Given the description of an element on the screen output the (x, y) to click on. 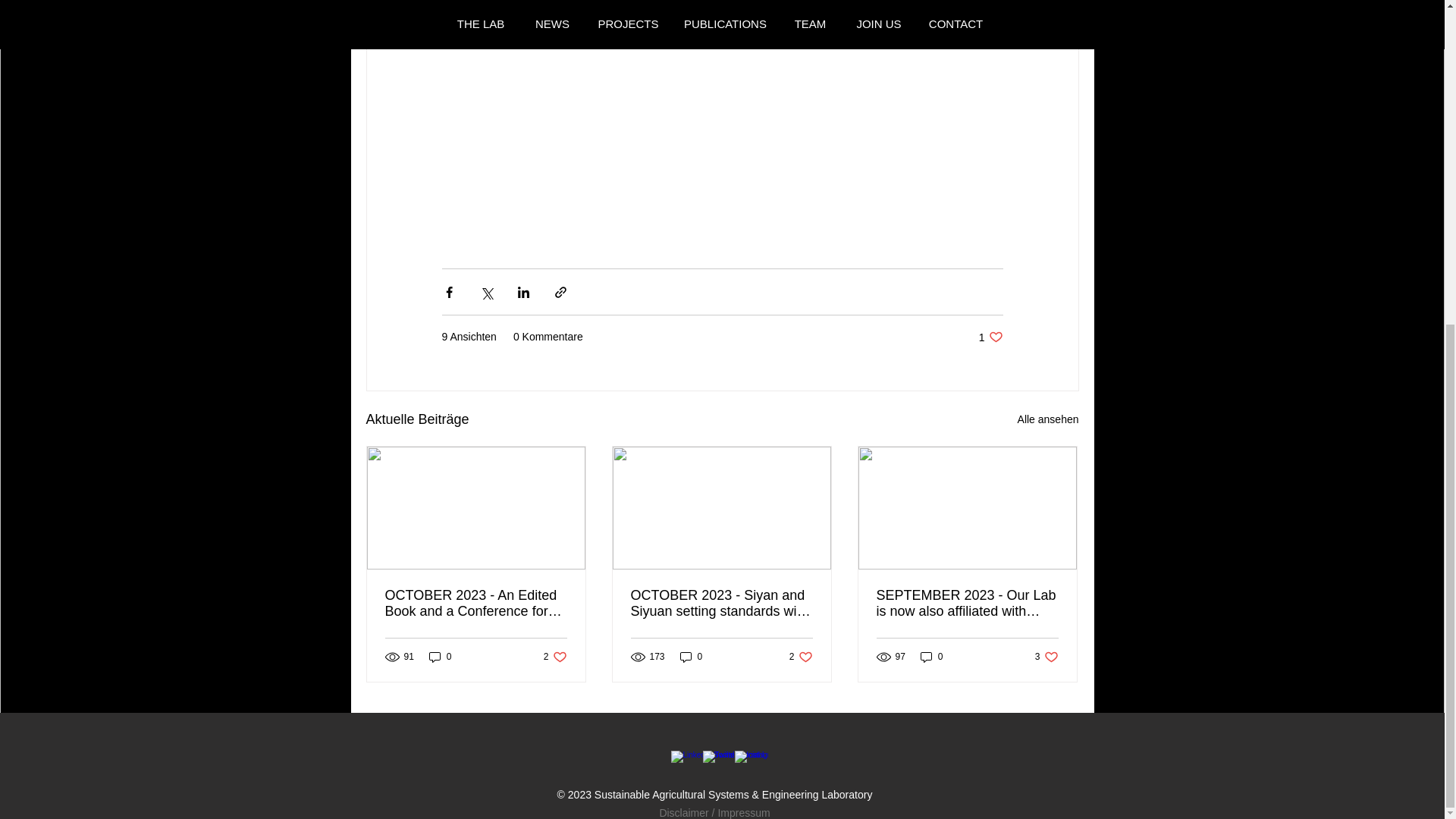
Alle ansehen (1047, 419)
0 (931, 657)
0 (440, 657)
0 (691, 657)
